Given the description of an element on the screen output the (x, y) to click on. 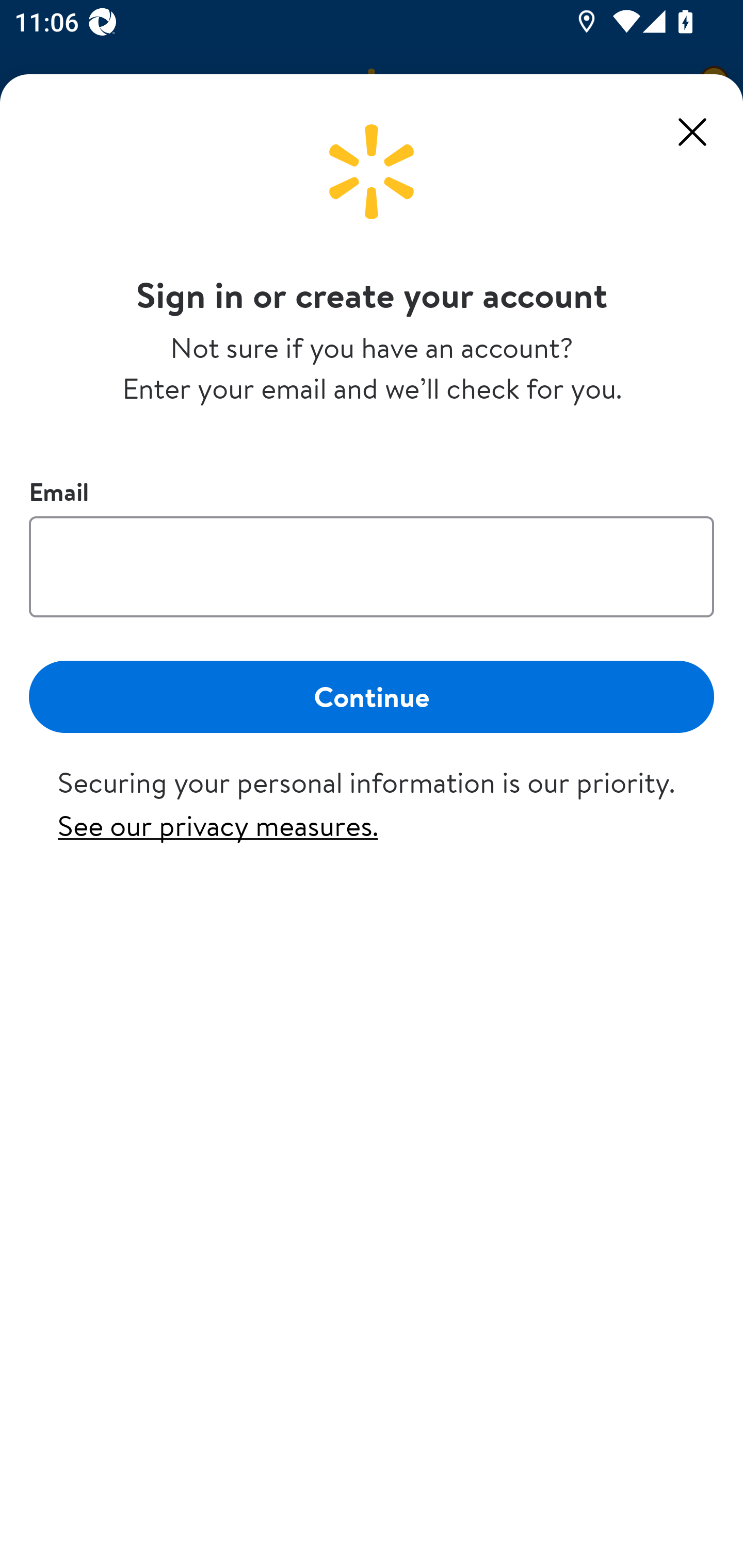
Close (692, 131)
Email (371, 566)
Continue (371, 696)
